Given the description of an element on the screen output the (x, y) to click on. 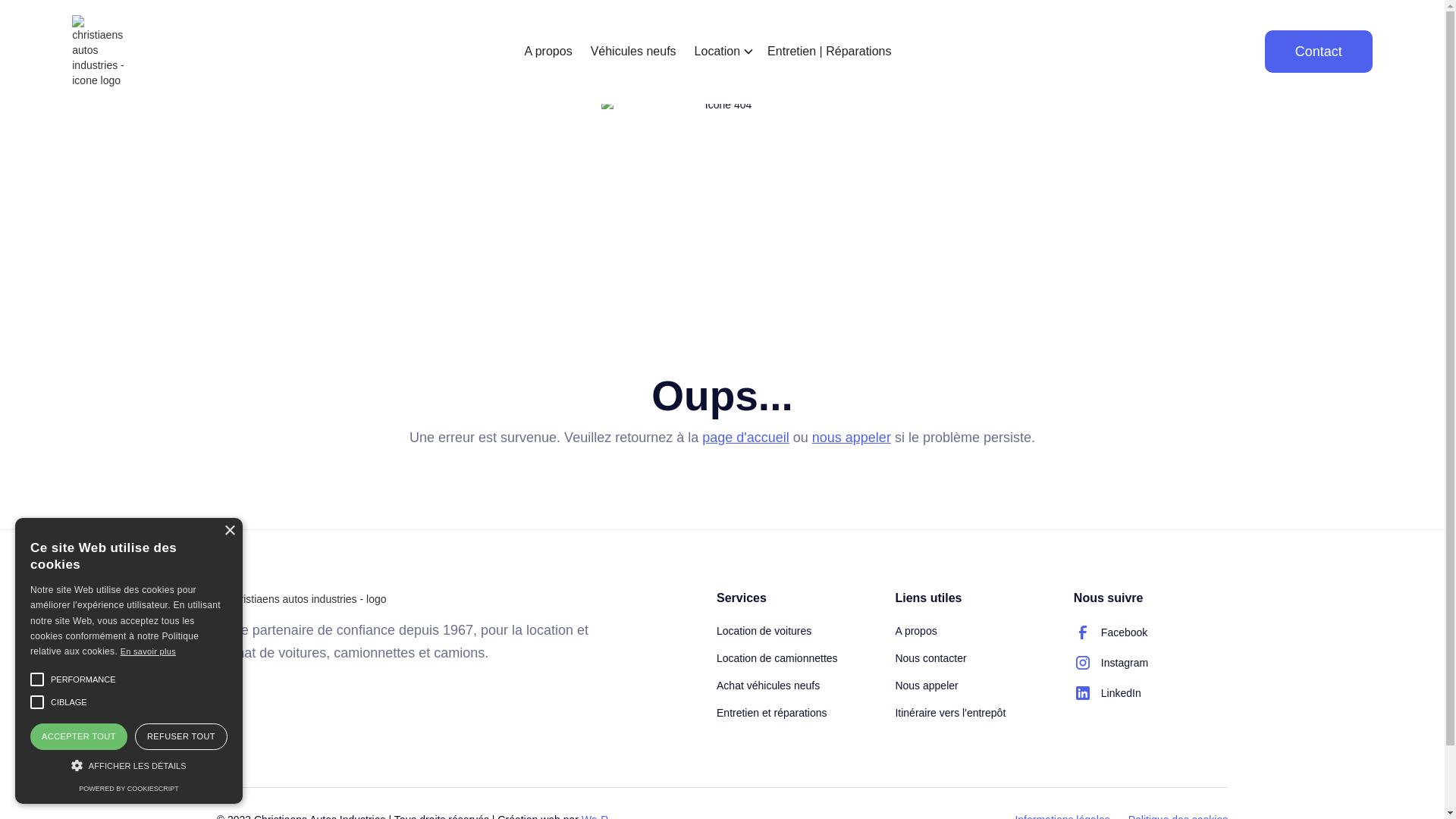
Nous appeler Element type: text (925, 685)
Contact Element type: text (1318, 51)
En savoir plus Element type: text (147, 650)
A propos Element type: text (915, 630)
A propos Element type: text (547, 43)
Nous contacter Element type: text (930, 657)
Location de camionnettes Element type: text (776, 657)
Instagram Element type: text (1110, 662)
Location de voitures Element type: text (763, 630)
nous appeler Element type: text (851, 437)
LinkedIn Element type: text (1107, 692)
page d'accueil Element type: text (745, 437)
Facebook Element type: text (1110, 632)
POWERED BY COOKIESCRIPT Element type: text (128, 788)
